Given the description of an element on the screen output the (x, y) to click on. 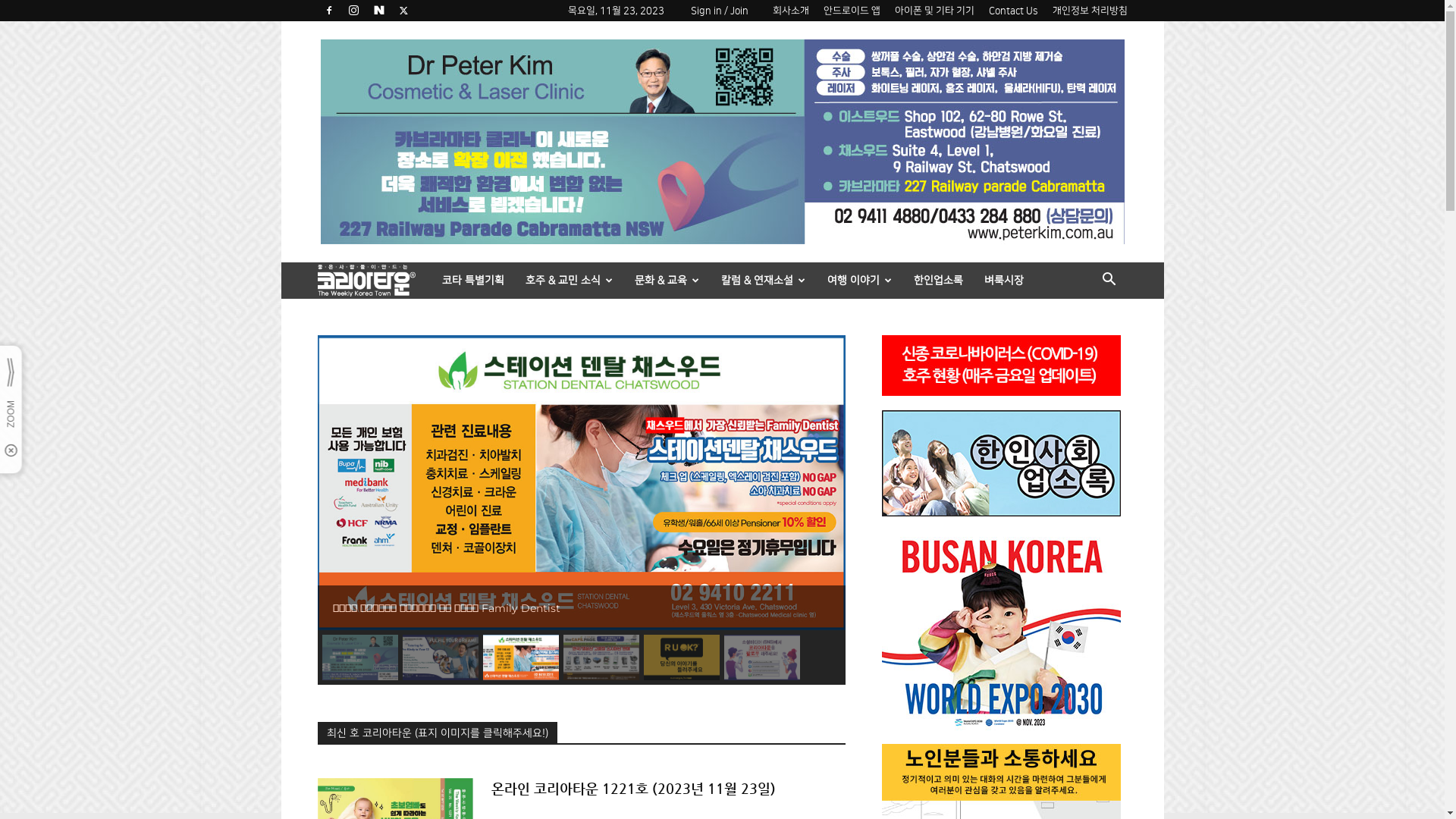
Search Element type: text (1085, 341)
Facebook Element type: hover (327, 10)
Naver Element type: hover (378, 10)
Instagram Element type: hover (353, 10)
Sign in / Join Element type: text (719, 10)
Twitter Element type: hover (403, 10)
Contact Us Element type: text (1012, 10)
